Given the description of an element on the screen output the (x, y) to click on. 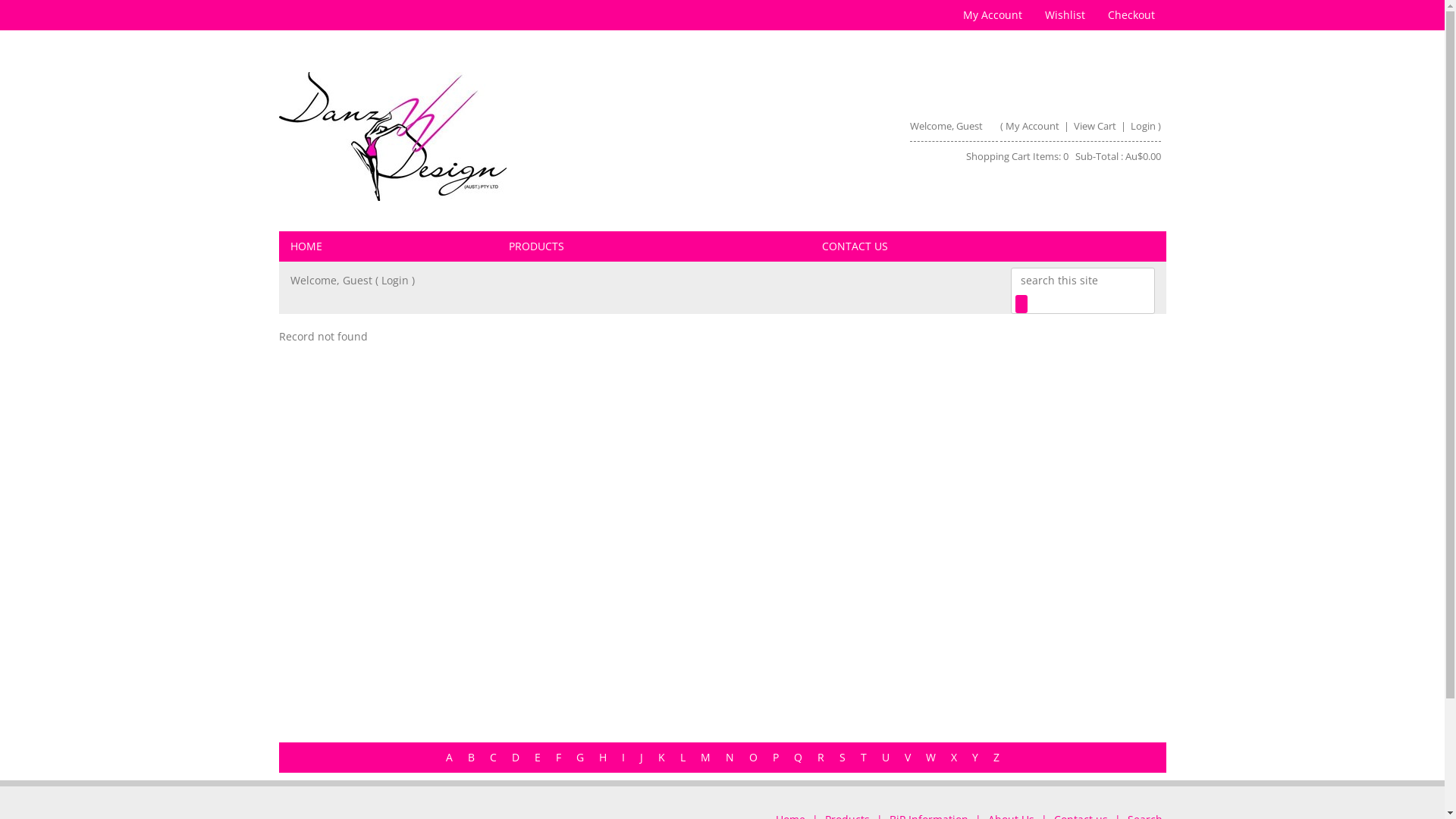
M Element type: text (705, 756)
Q Element type: text (797, 756)
D Element type: text (514, 756)
HOME Element type: text (388, 246)
F Element type: text (557, 756)
S Element type: text (841, 756)
R Element type: text (820, 756)
Login Element type: text (393, 280)
C Element type: text (492, 756)
J Element type: text (641, 756)
H Element type: text (602, 756)
K Element type: text (661, 756)
P Element type: text (774, 756)
O Element type: text (753, 756)
search this site Element type: text (1081, 279)
W Element type: text (930, 756)
Checkout Element type: text (1131, 15)
PRODUCTS Element type: text (653, 246)
I Element type: text (622, 756)
B Element type: text (470, 756)
My Account Element type: text (991, 15)
V Element type: text (906, 756)
E Element type: text (536, 756)
G Element type: text (579, 756)
Y Element type: text (975, 756)
Login Element type: text (1142, 125)
Z Element type: text (996, 756)
My Account Element type: text (1032, 125)
N Element type: text (728, 756)
View Cart Element type: text (1095, 125)
www.danzdesign.com.au Element type: hover (494, 136)
CONTACT US Element type: text (988, 246)
T Element type: text (862, 756)
L Element type: text (681, 756)
U Element type: text (884, 756)
Wishlist Element type: text (1063, 15)
www.danzdesign.com.au Element type: hover (392, 136)
X Element type: text (953, 756)
A Element type: text (448, 756)
